Given the description of an element on the screen output the (x, y) to click on. 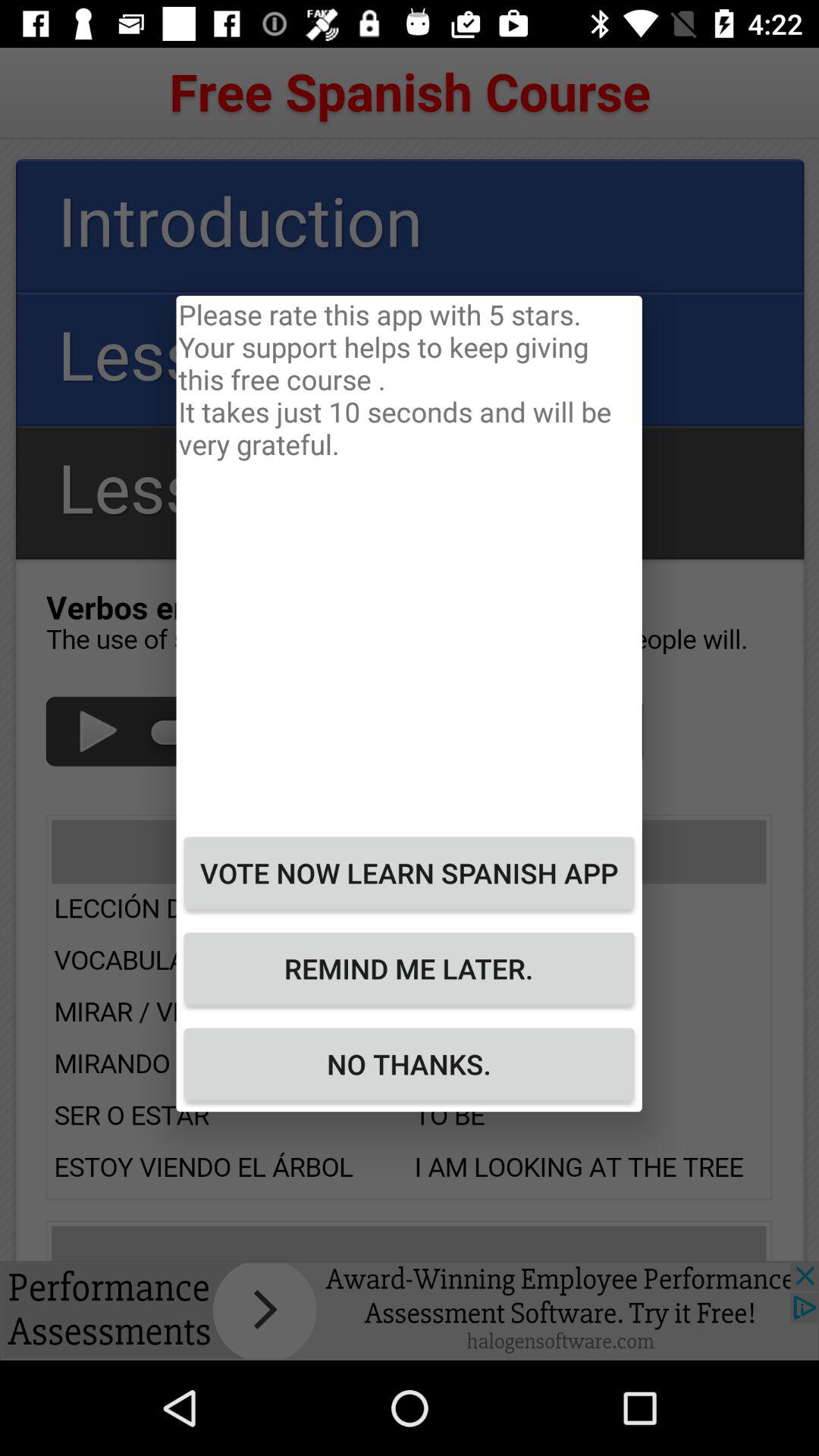
tap the button below vote now learn (409, 968)
